Given the description of an element on the screen output the (x, y) to click on. 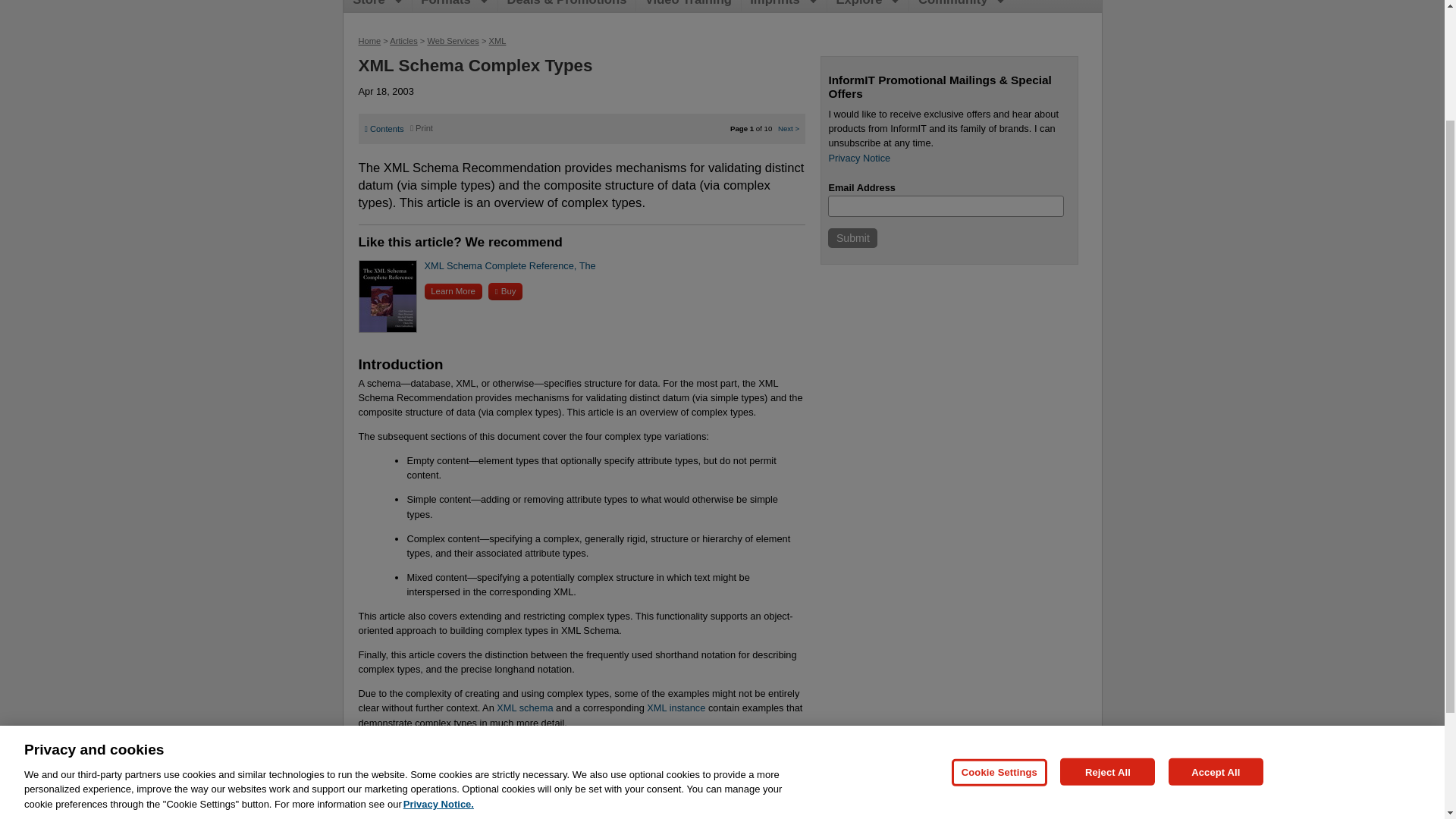
XML (497, 40)
Learn More (453, 291)
Privacy Notice (858, 157)
Submit (852, 238)
XML instance (675, 707)
Print (421, 127)
Web Services (452, 40)
Articles (403, 40)
Home (369, 40)
Submit (852, 238)
XML schema (524, 707)
XML Schema Complete Reference, The (510, 265)
